Given the description of an element on the screen output the (x, y) to click on. 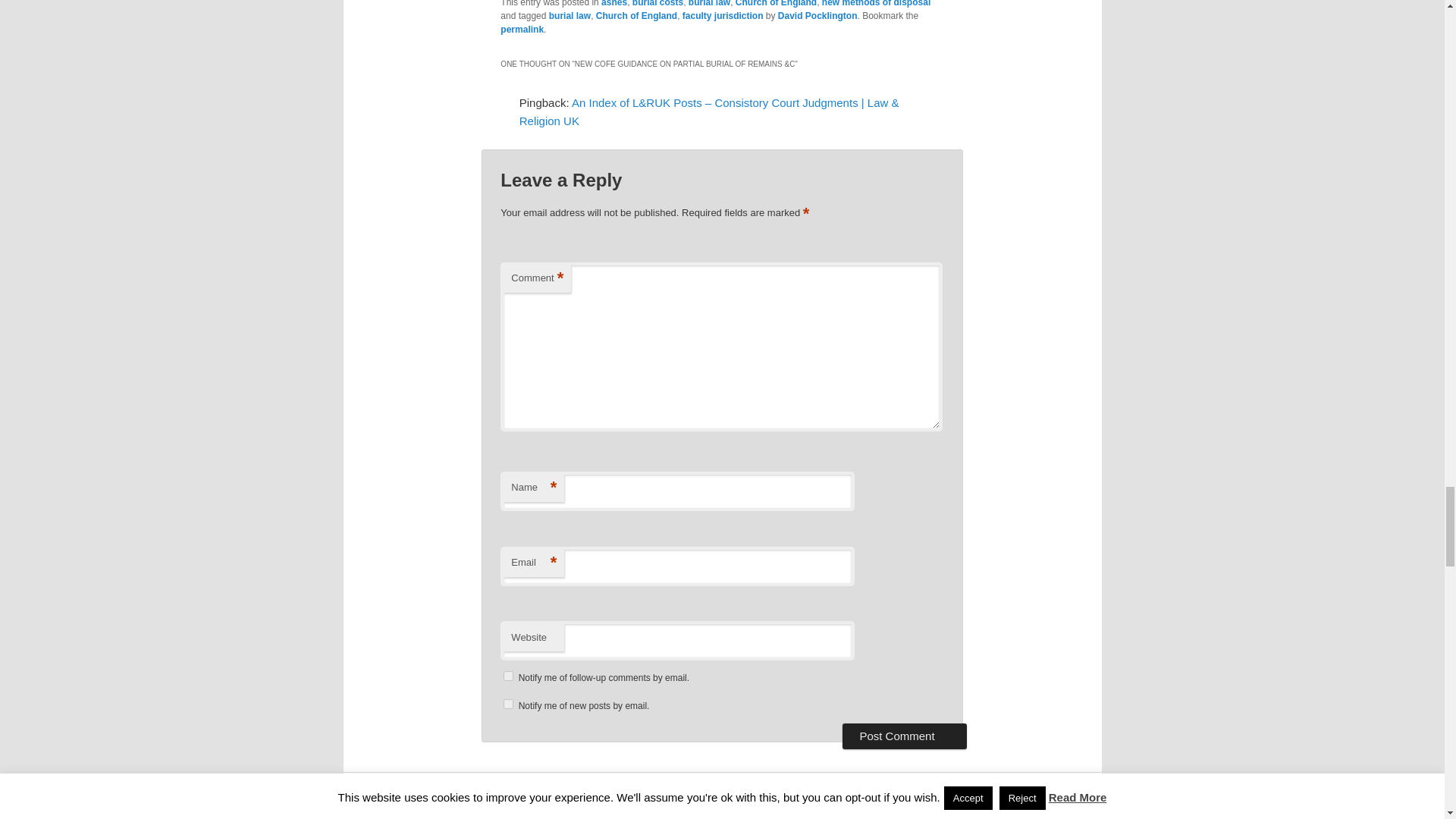
burial law (569, 15)
Post Comment (904, 736)
subscribe (508, 704)
ashes (614, 3)
subscribe (508, 675)
new methods of disposal (876, 3)
burial law (709, 3)
burial costs (656, 3)
Church of England (775, 3)
